Given the description of an element on the screen output the (x, y) to click on. 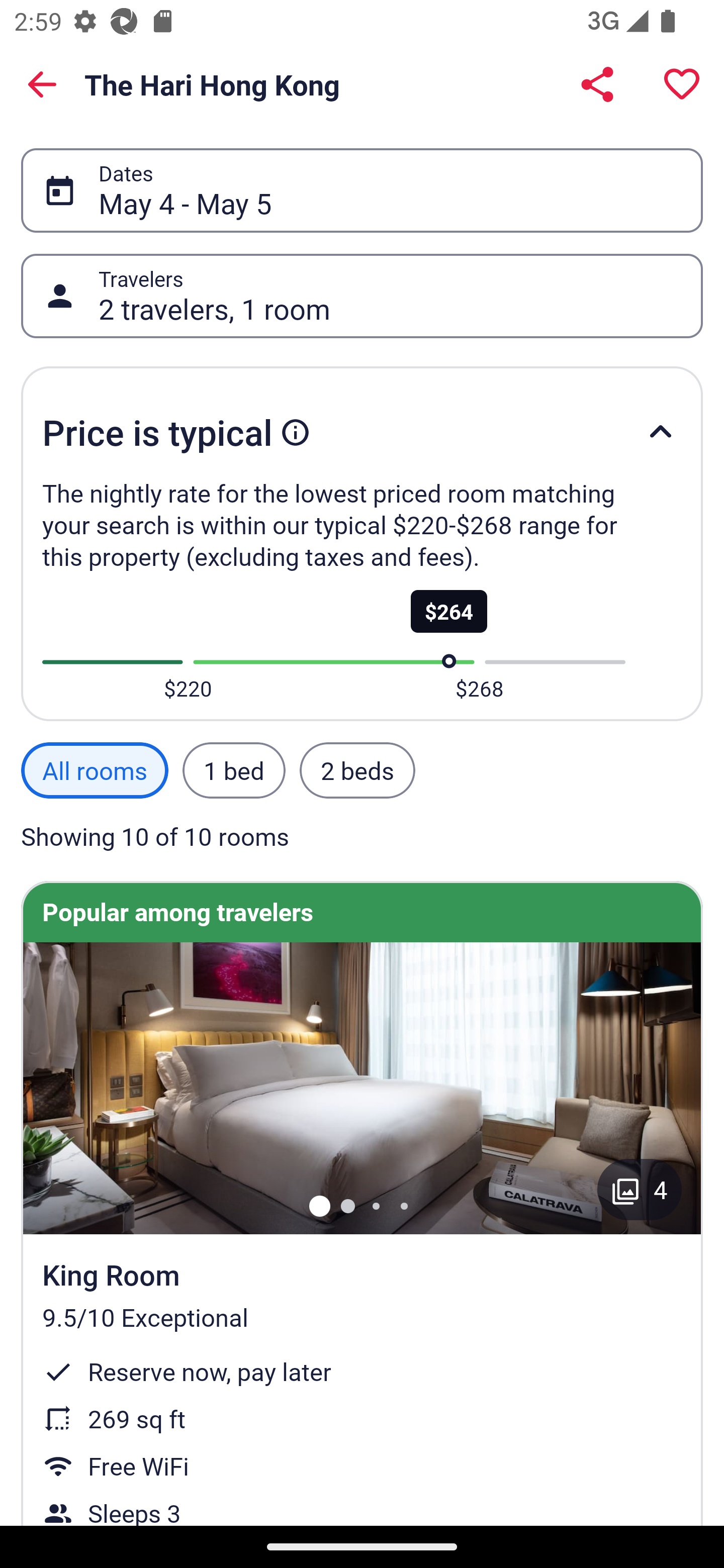
Back (42, 84)
Save property to a trip (681, 84)
Share The Hari Hong Kong (597, 84)
May 4 - May 5 Dates (361, 190)
May 4 - May 5 (390, 190)
2 travelers, 1 room Travelers (361, 296)
2 travelers, 1 room (390, 295)
Price is typical (361, 432)
All rooms (94, 769)
1 bed (233, 769)
2 beds (357, 769)
Gallery button with 4 images (639, 1189)
